Given the description of an element on the screen output the (x, y) to click on. 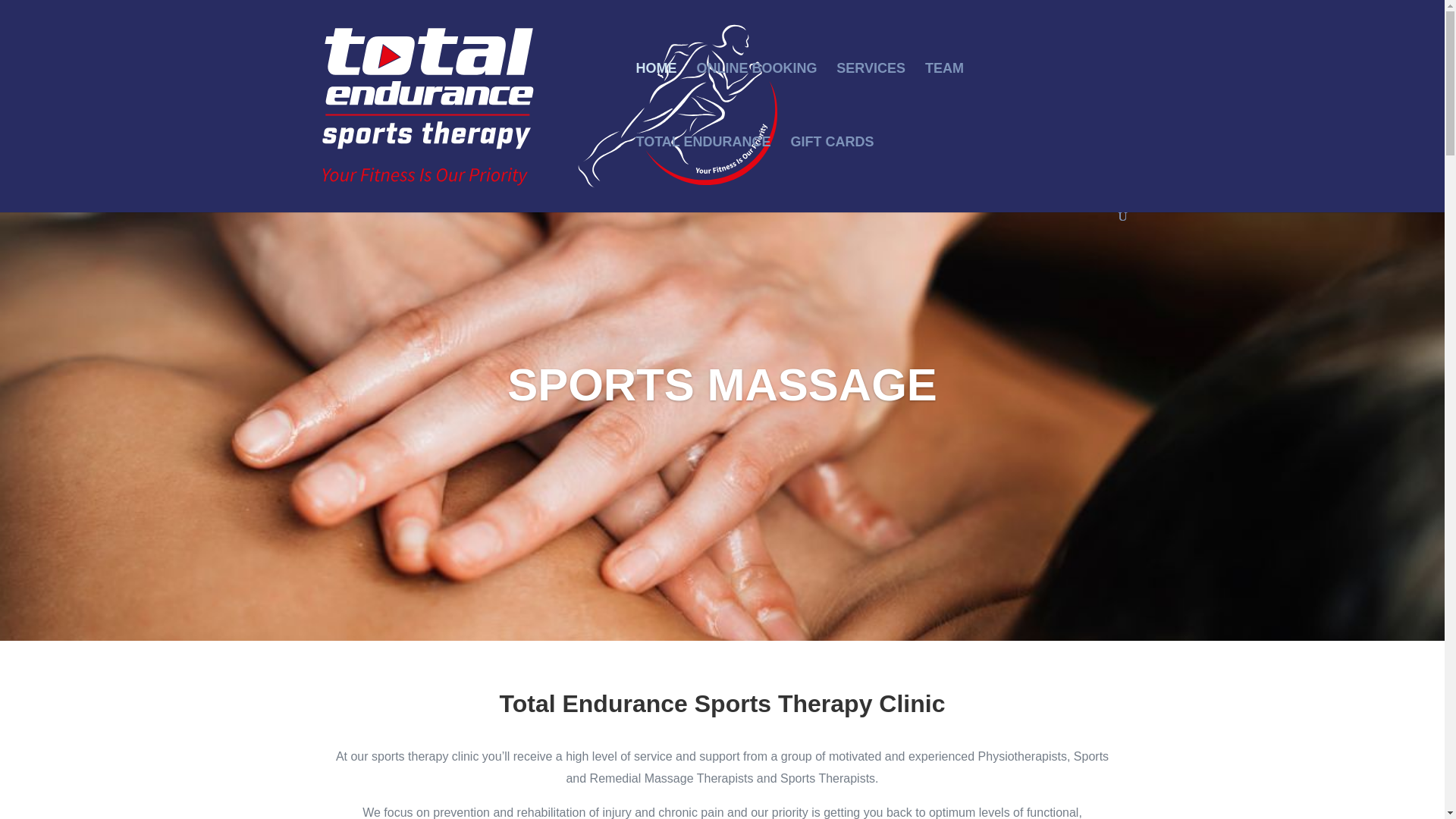
GIFT CARDS (831, 172)
ONLINE BOOKING (755, 99)
TOTAL ENDURANCE (702, 172)
SERVICES (870, 99)
